Given the description of an element on the screen output the (x, y) to click on. 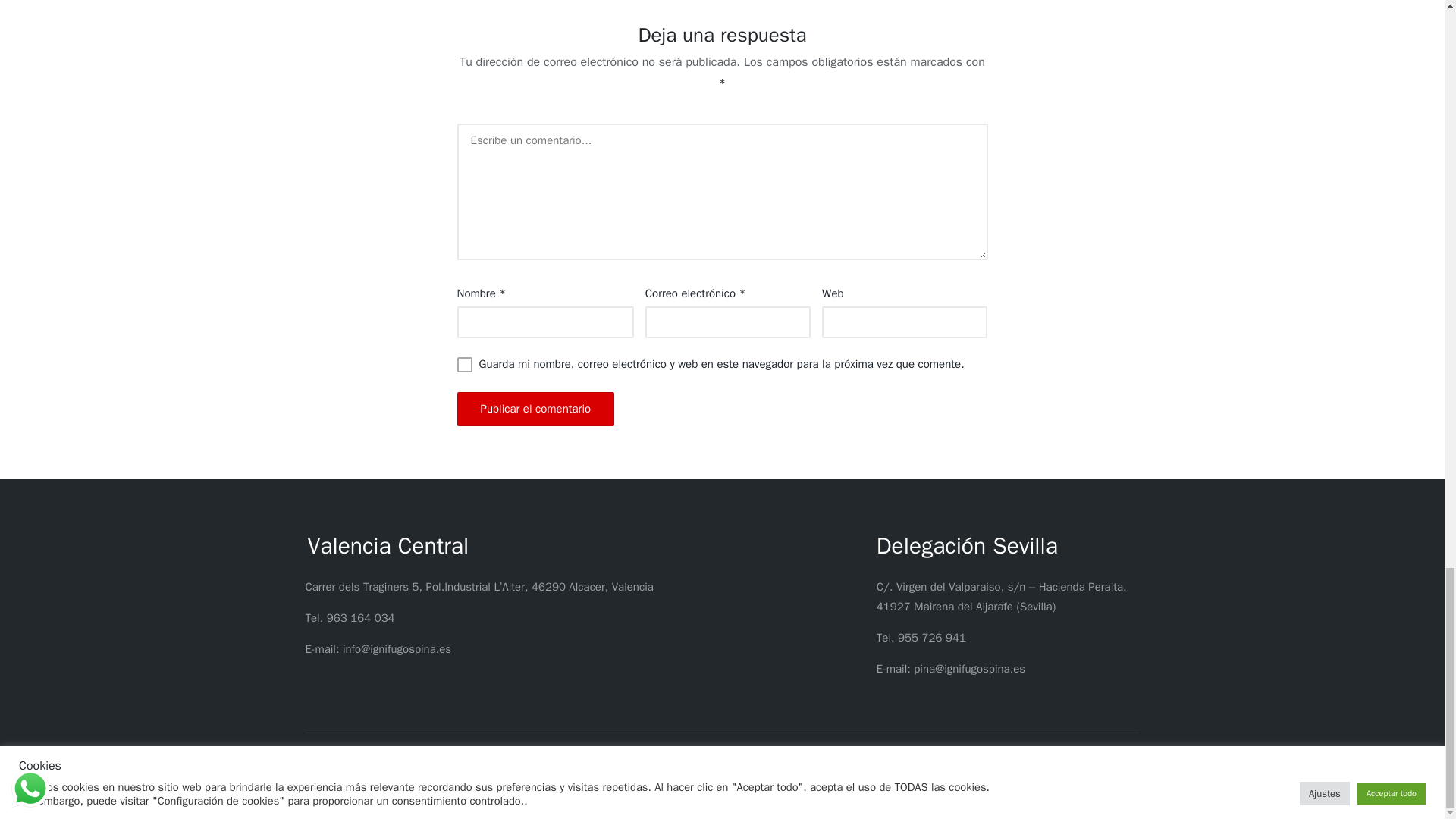
955 726 941 (932, 637)
963 164 034 (360, 617)
Publicar el comentario (535, 408)
Politica privacidad y Condiciones legales (660, 790)
yes (464, 364)
Publicar el comentario (535, 408)
